Given the description of an element on the screen output the (x, y) to click on. 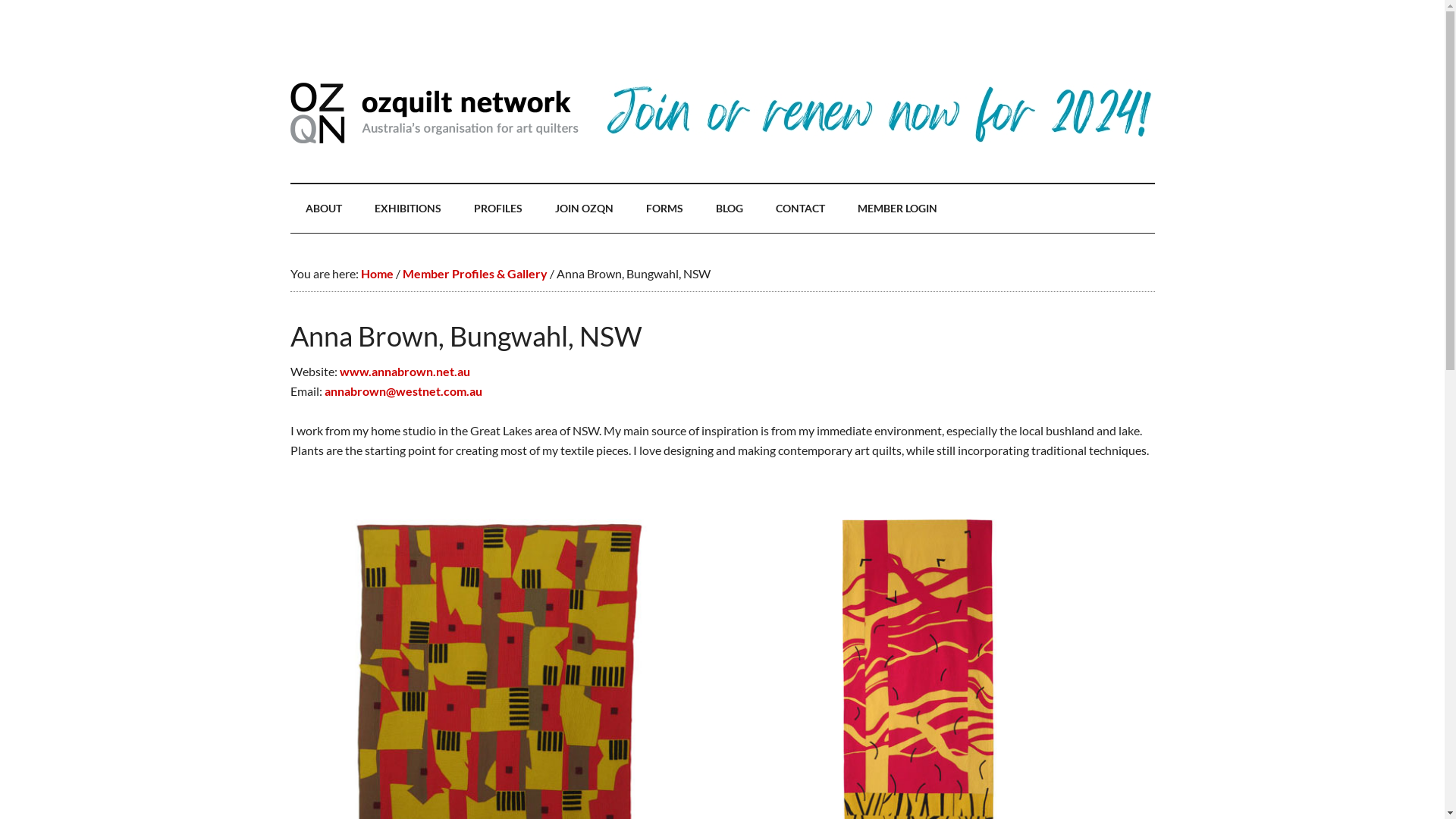
Ozquilt Network Inc Element type: text (433, 112)
MEMBER LOGIN Element type: text (896, 208)
Home Element type: text (376, 273)
CONTACT Element type: text (799, 208)
PROFILES Element type: text (497, 208)
EXHIBITIONS Element type: text (407, 208)
Member Profiles & Gallery Element type: text (473, 273)
www.annabrown.net.au Element type: text (404, 371)
annabrown@westnet.com.au Element type: text (403, 390)
FORMS Element type: text (664, 208)
Skip to main content Element type: text (0, 0)
ABOUT Element type: text (322, 208)
BLOG Element type: text (729, 208)
Join or renew now for 2024! Element type: hover (878, 141)
JOIN OZQN Element type: text (583, 208)
